Given the description of an element on the screen output the (x, y) to click on. 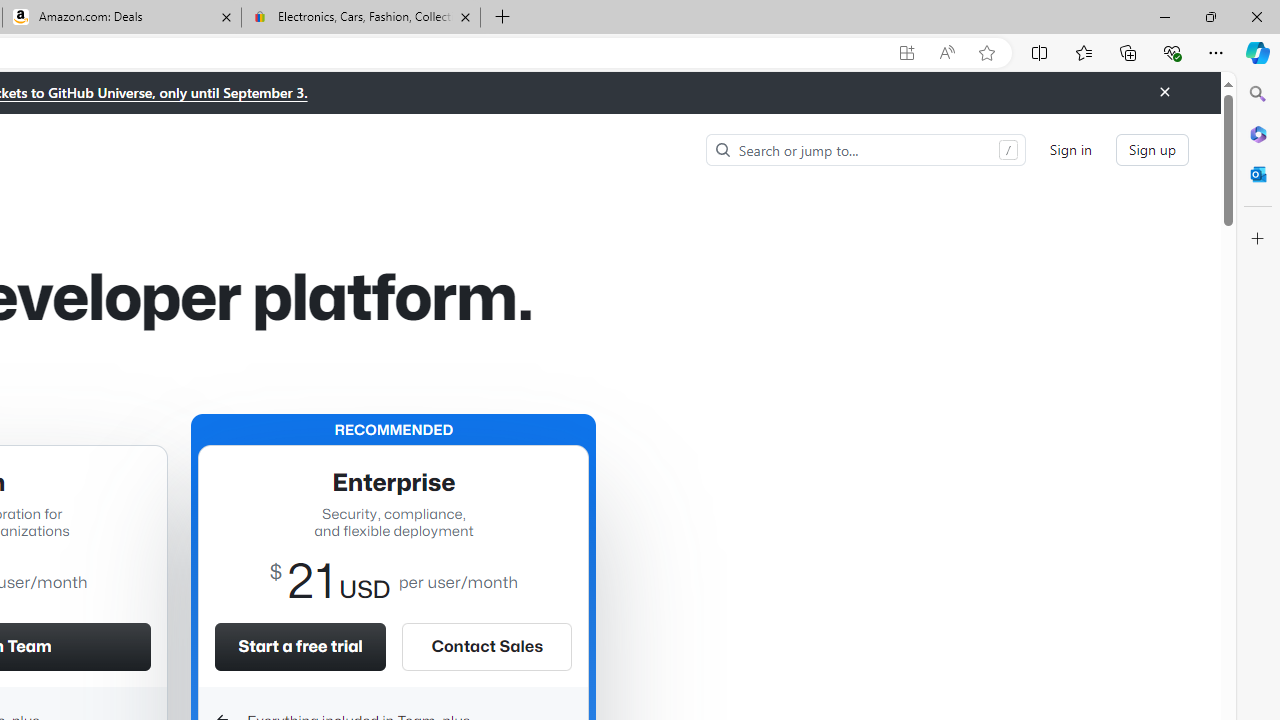
Contact Sales (486, 646)
App available. Install GitHub (906, 53)
Sign up (1152, 149)
